Given the description of an element on the screen output the (x, y) to click on. 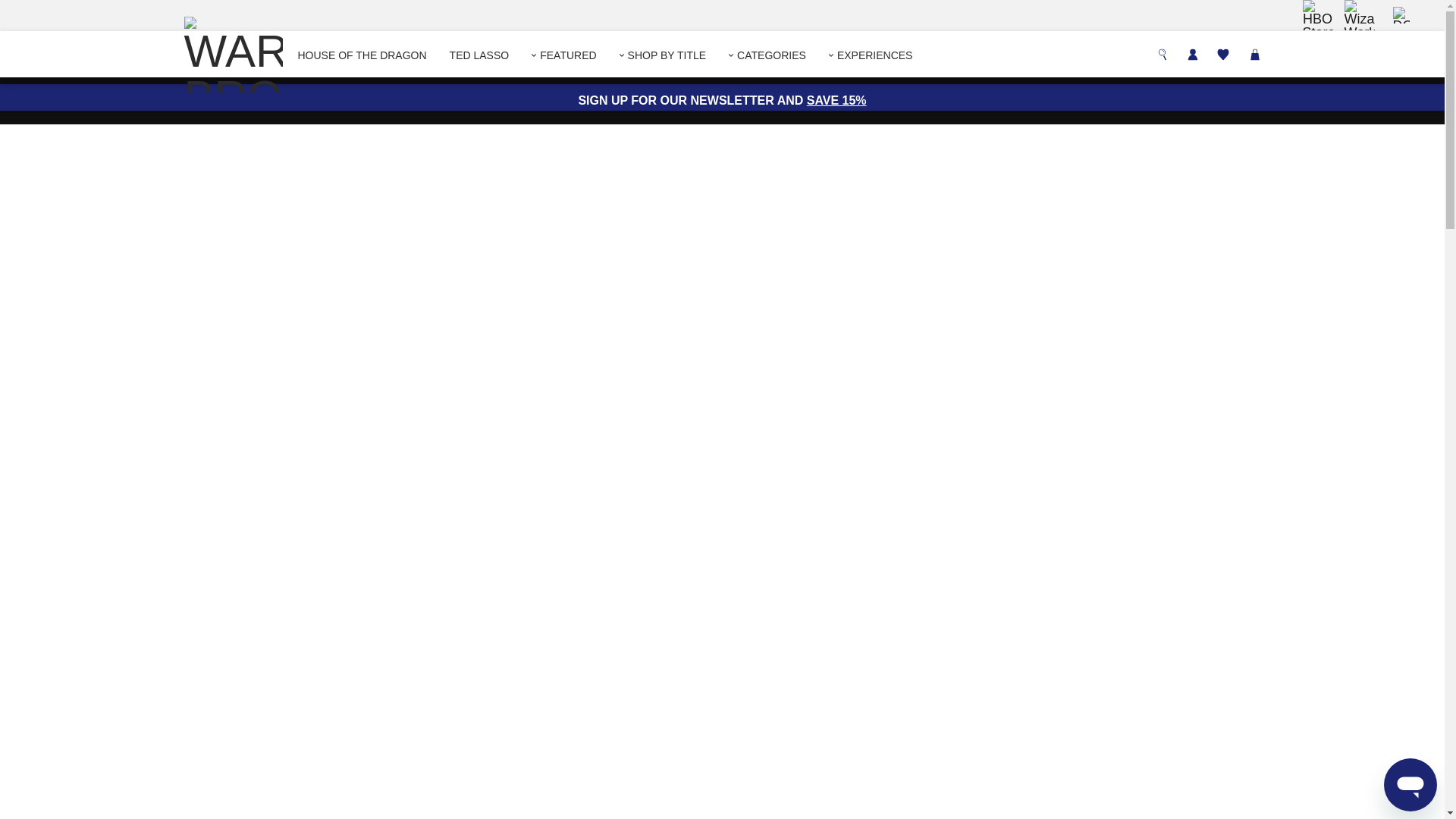
SHOP BY TITLE (663, 54)
FEATURED (563, 54)
TED LASSO (479, 54)
HOUSE OF THE DRAGON (361, 54)
